Given the description of an element on the screen output the (x, y) to click on. 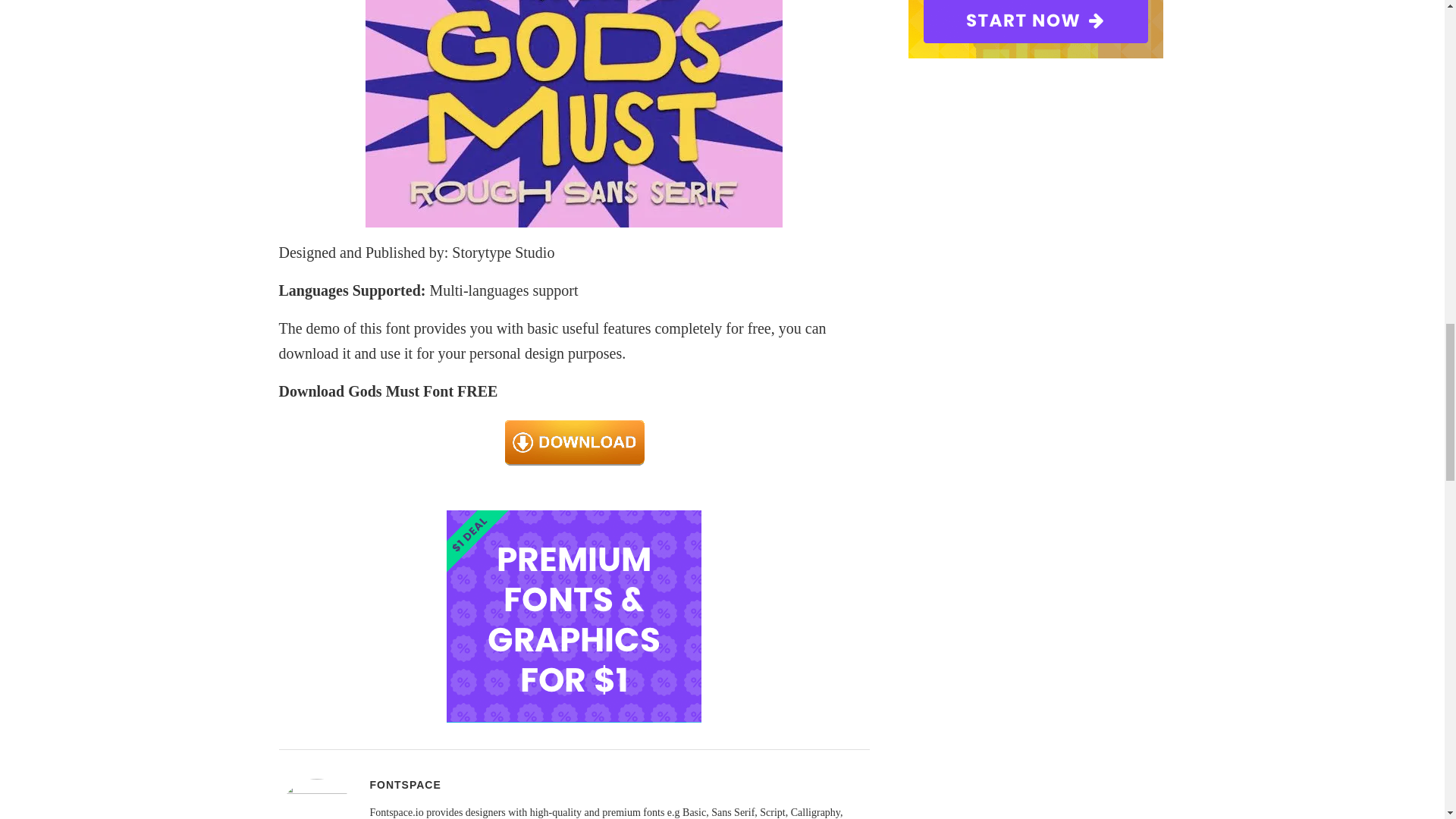
Posts by Fontspace (405, 784)
